Given the description of an element on the screen output the (x, y) to click on. 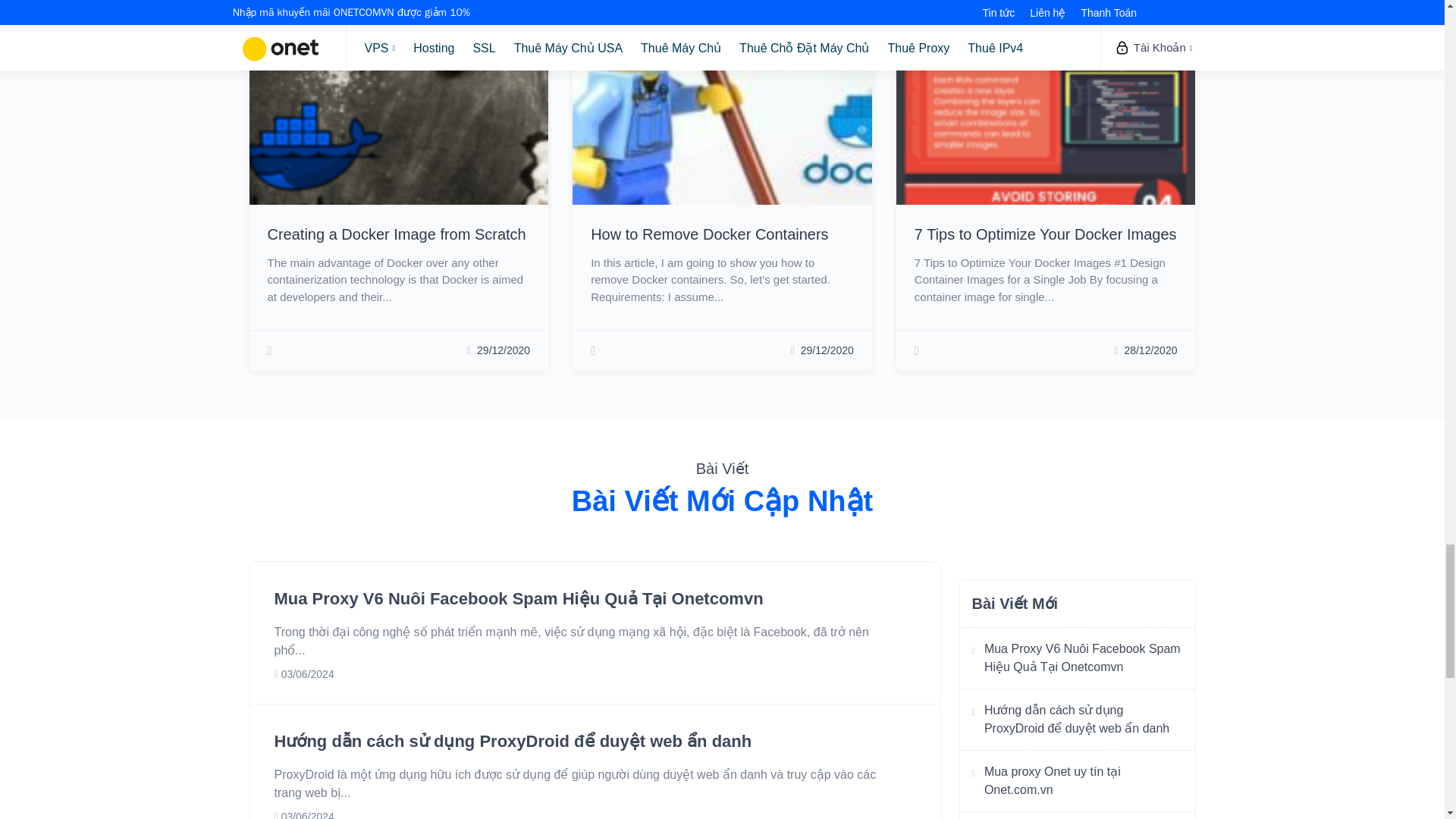
7 Tips to Optimize Your Docker Images (1045, 234)
How to Remove Docker Containers (709, 234)
Creating a Docker Image from Scratch (395, 234)
